Given the description of an element on the screen output the (x, y) to click on. 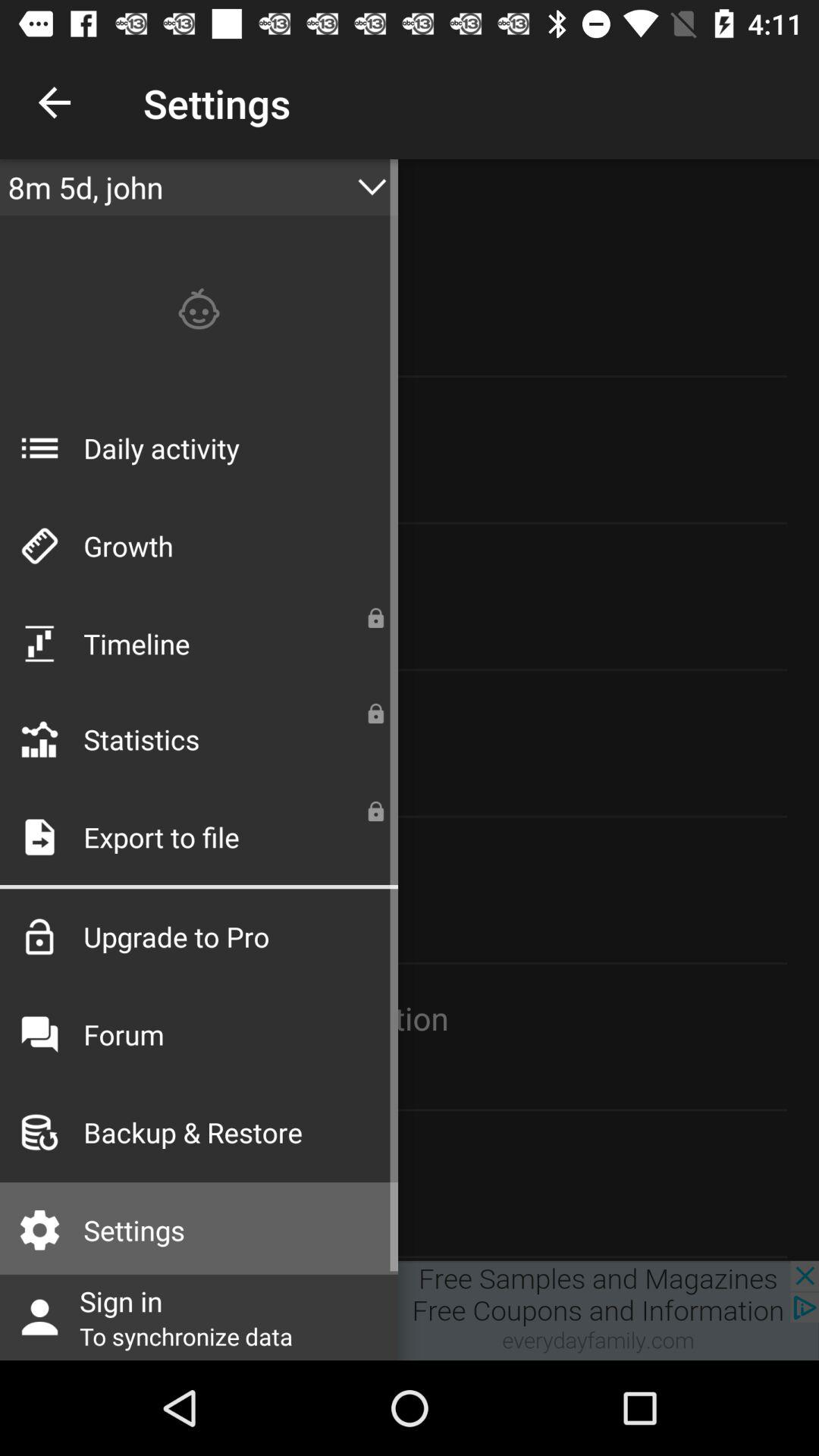
click on lock symbol which is on the right side of timeline (376, 617)
